Given the description of an element on the screen output the (x, y) to click on. 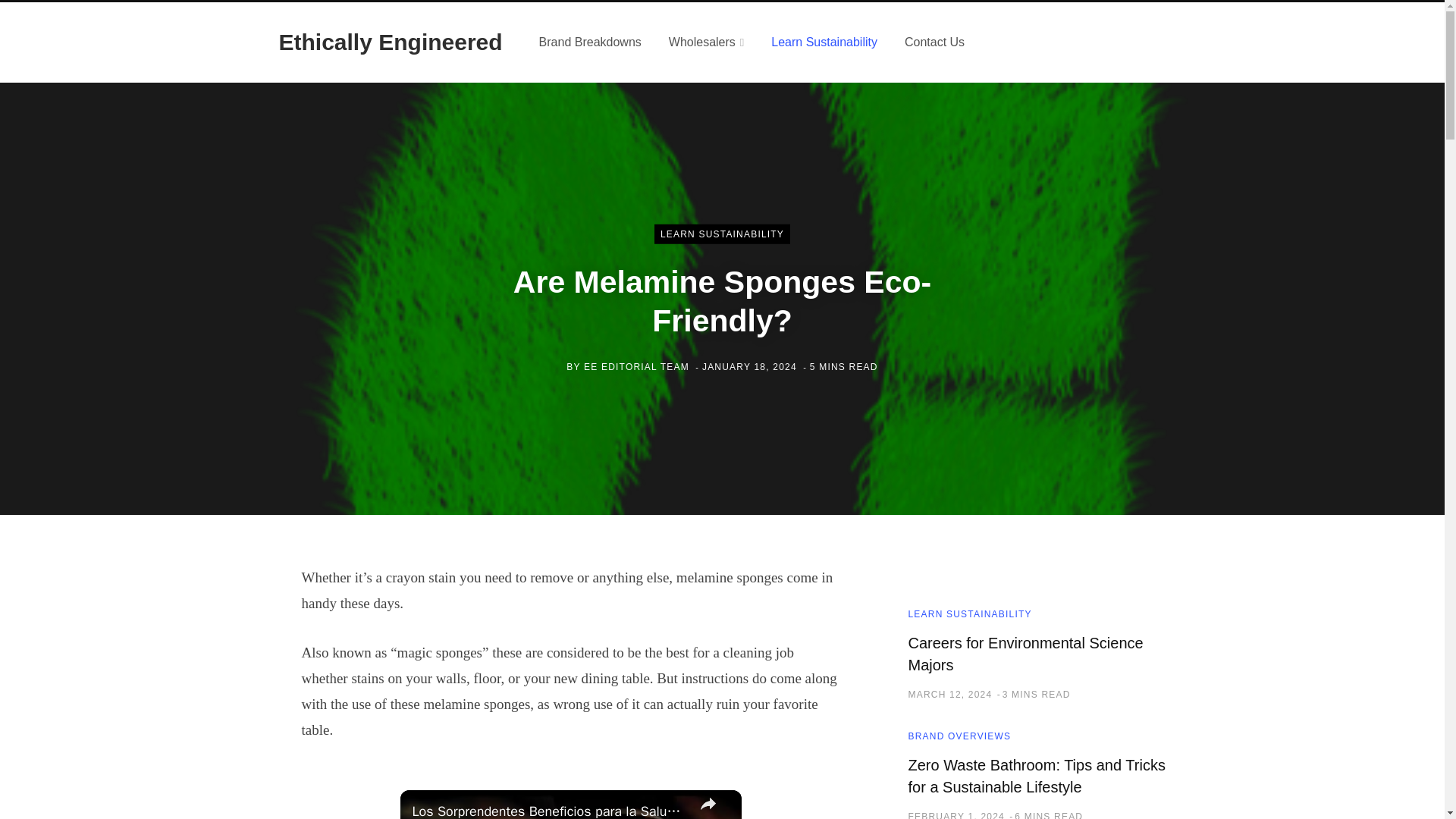
Posts by EE Editorial Team (635, 366)
Ethically Engineered (390, 42)
share (709, 804)
LEARN SUSTAINABILITY (721, 234)
Share (709, 804)
EE EDITORIAL TEAM (635, 366)
Ethically Engineered (390, 42)
Learn Sustainability (824, 41)
Contact Us (934, 41)
Brand Breakdowns (590, 41)
Wholesalers (706, 41)
